Given the description of an element on the screen output the (x, y) to click on. 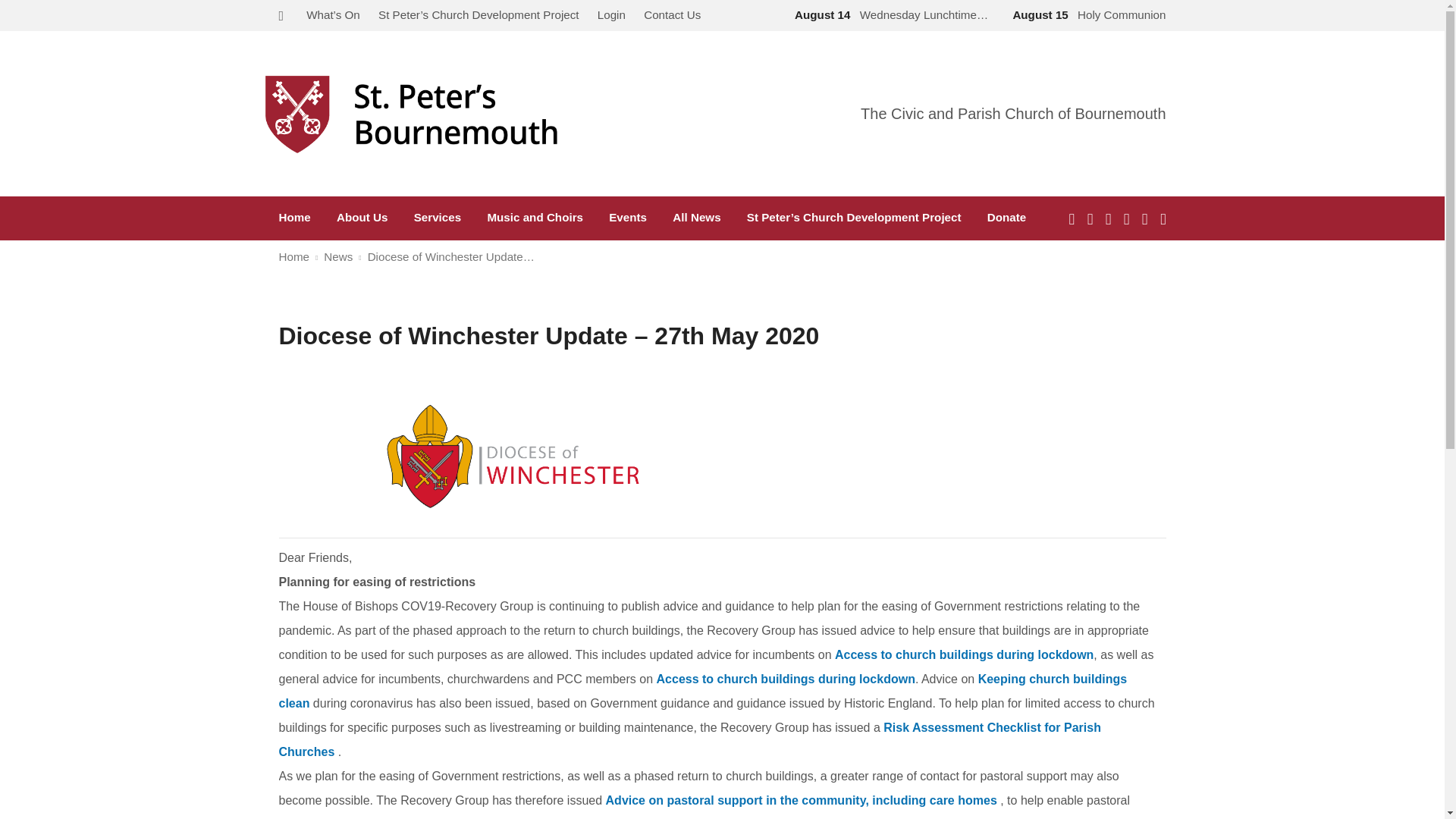
Home (294, 256)
Music and Choirs (534, 216)
Home (295, 216)
Contact Us (671, 14)
Donate (1006, 216)
Services (437, 216)
Login (611, 14)
Events (627, 216)
All News (696, 216)
Wednesday Lunchtime Recital Series 2024 (888, 14)
